Given the description of an element on the screen output the (x, y) to click on. 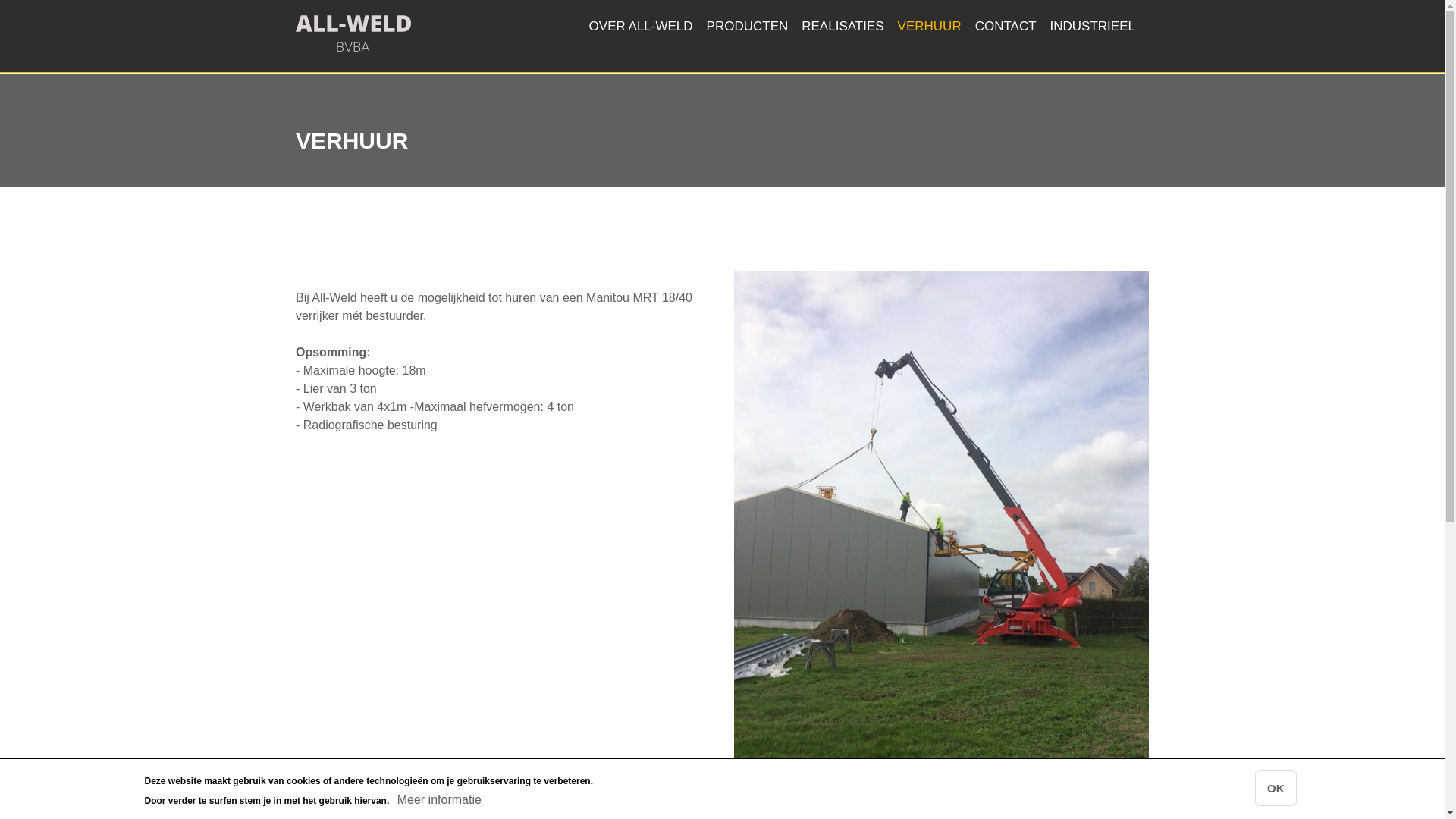
Home Element type: hover (353, 46)
Back to top Element type: text (295, 270)
Meer informatie Element type: text (439, 799)
VERHUUR Element type: text (929, 25)
CONTACT Element type: text (1005, 25)
INDUSTRIEEL Element type: text (1092, 25)
Overslaan en naar de inhoud gaan Element type: text (0, 1)
OK Element type: text (1275, 788)
OVER ALL-WELD Element type: text (641, 25)
REALISATIES Element type: text (842, 25)
PRODUCTEN Element type: text (747, 25)
